Given the description of an element on the screen output the (x, y) to click on. 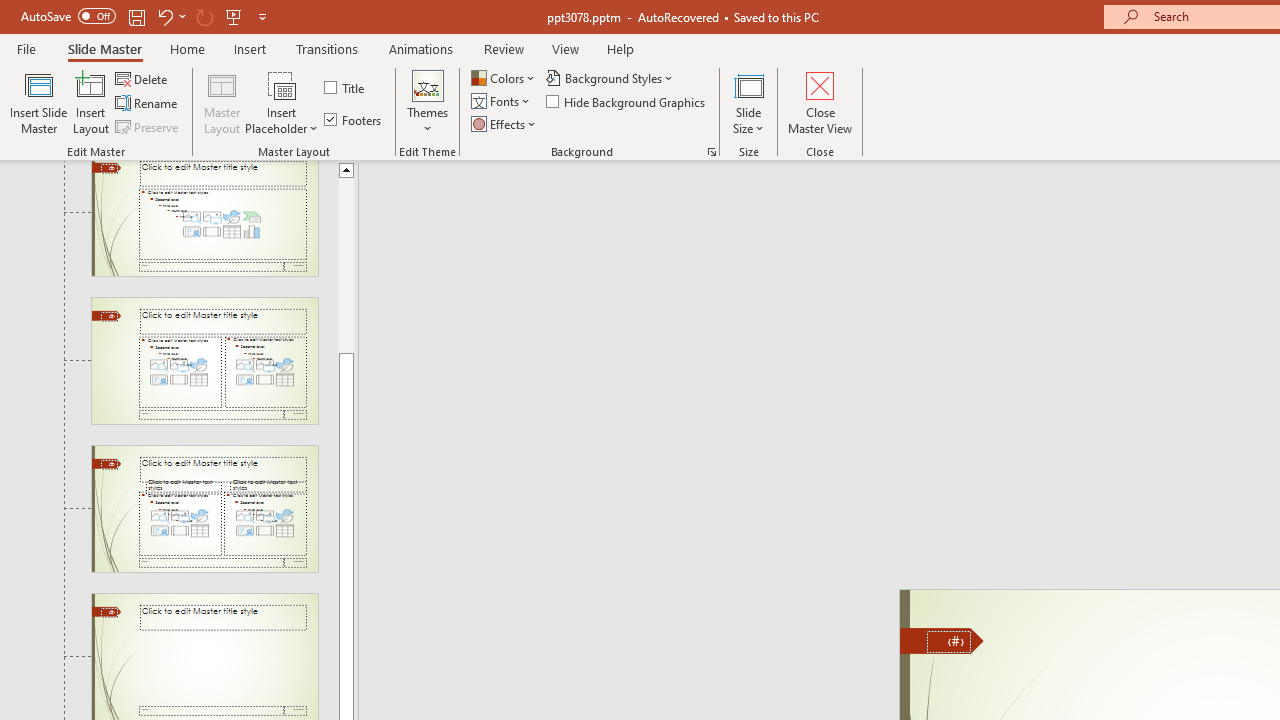
Close Master View (820, 102)
Slide Two Content Layout: used by no slides (204, 361)
Delete (143, 78)
Undo (164, 15)
Slide Title and Content Layout: used by no slides (204, 218)
Insert Placeholder (282, 102)
System (10, 11)
Page up (345, 264)
Footers (354, 119)
Home (187, 48)
File Tab (26, 48)
Animations (420, 48)
Slide Title Only Layout: used by no slides (204, 657)
View (565, 48)
Background Styles (610, 78)
